Given the description of an element on the screen output the (x, y) to click on. 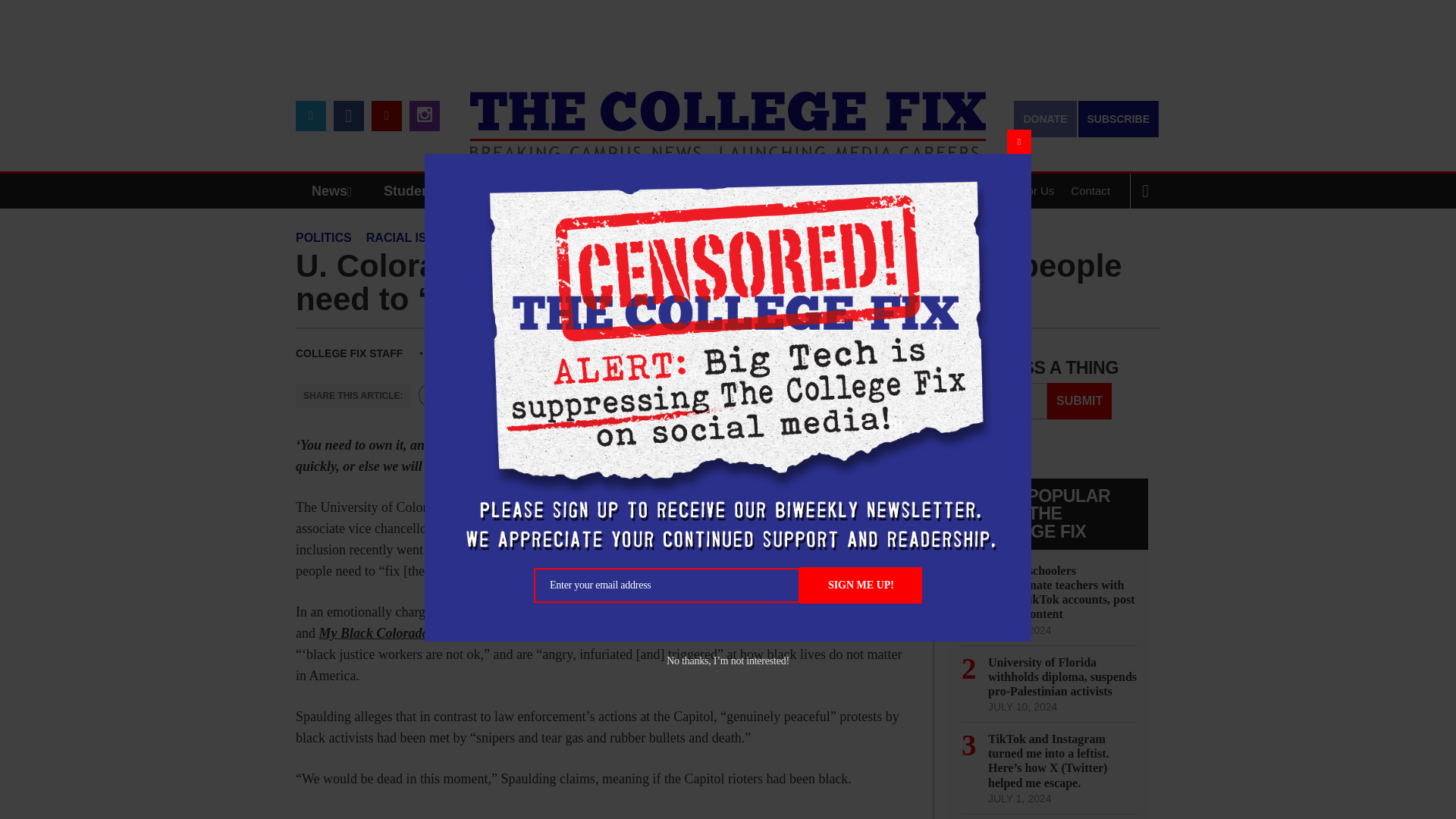
DONATE (1044, 118)
About The Fix (938, 190)
SUBSCRIBE (1118, 118)
News (335, 190)
Student Reporters (443, 190)
Submit (1079, 401)
The College Fix (727, 114)
MERCHANDISE (577, 190)
